Given the description of an element on the screen output the (x, y) to click on. 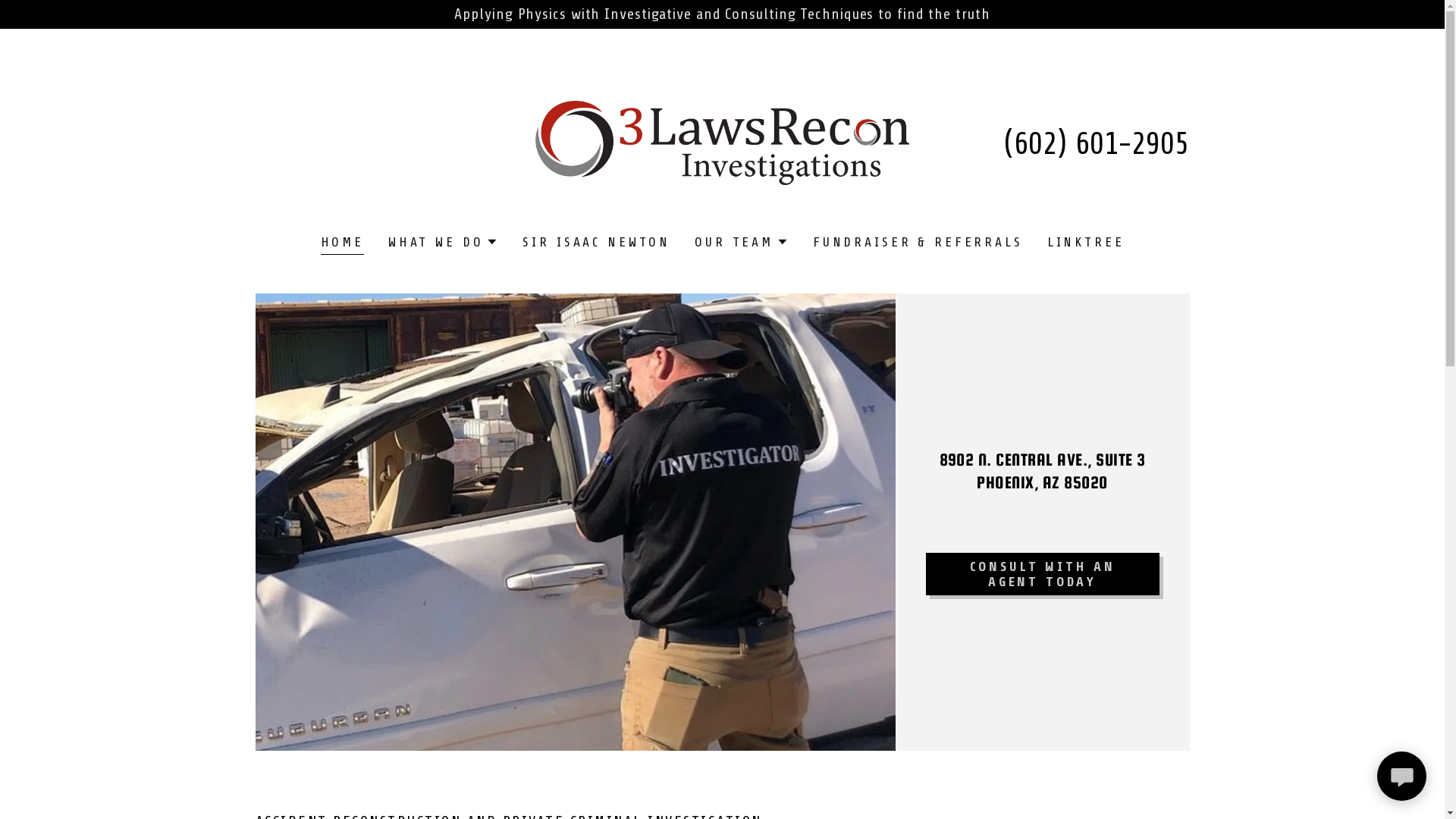
3 Laws of Motion Collision Reconstruction, LLC. Element type: hover (722, 141)
OUR TEAM Element type: text (741, 241)
LINKTREE Element type: text (1085, 241)
FUNDRAISER & REFERRALS Element type: text (917, 241)
HOME Element type: text (341, 243)
SIR ISAAC NEWTON Element type: text (595, 241)
WHAT WE DO Element type: text (443, 241)
(602) 601-2905 Element type: text (1096, 143)
CONSULT WITH AN AGENT TODAY Element type: text (1041, 573)
